Given the description of an element on the screen output the (x, y) to click on. 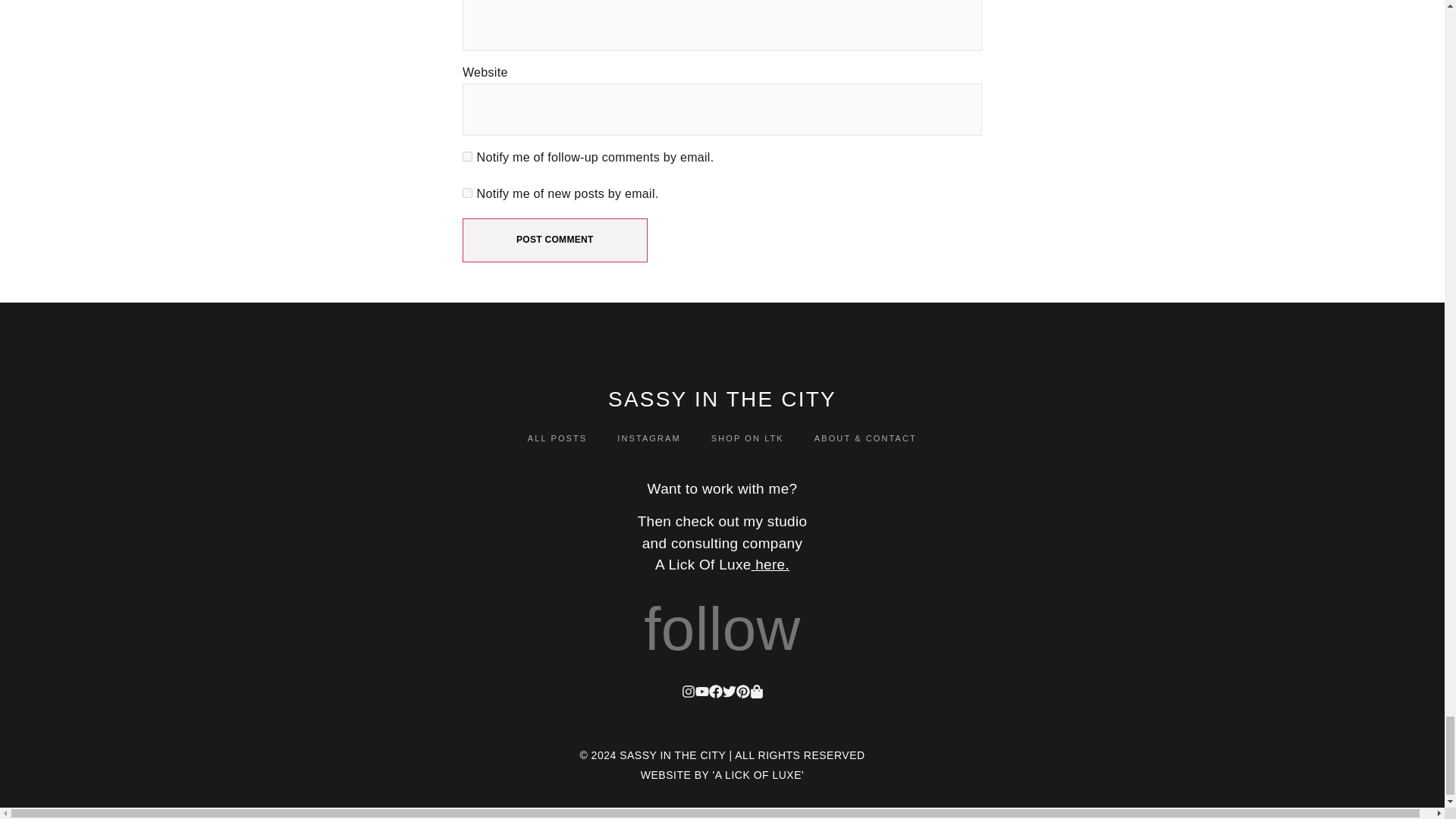
subscribe (467, 156)
subscribe (467, 193)
Post Comment (555, 240)
